Given the description of an element on the screen output the (x, y) to click on. 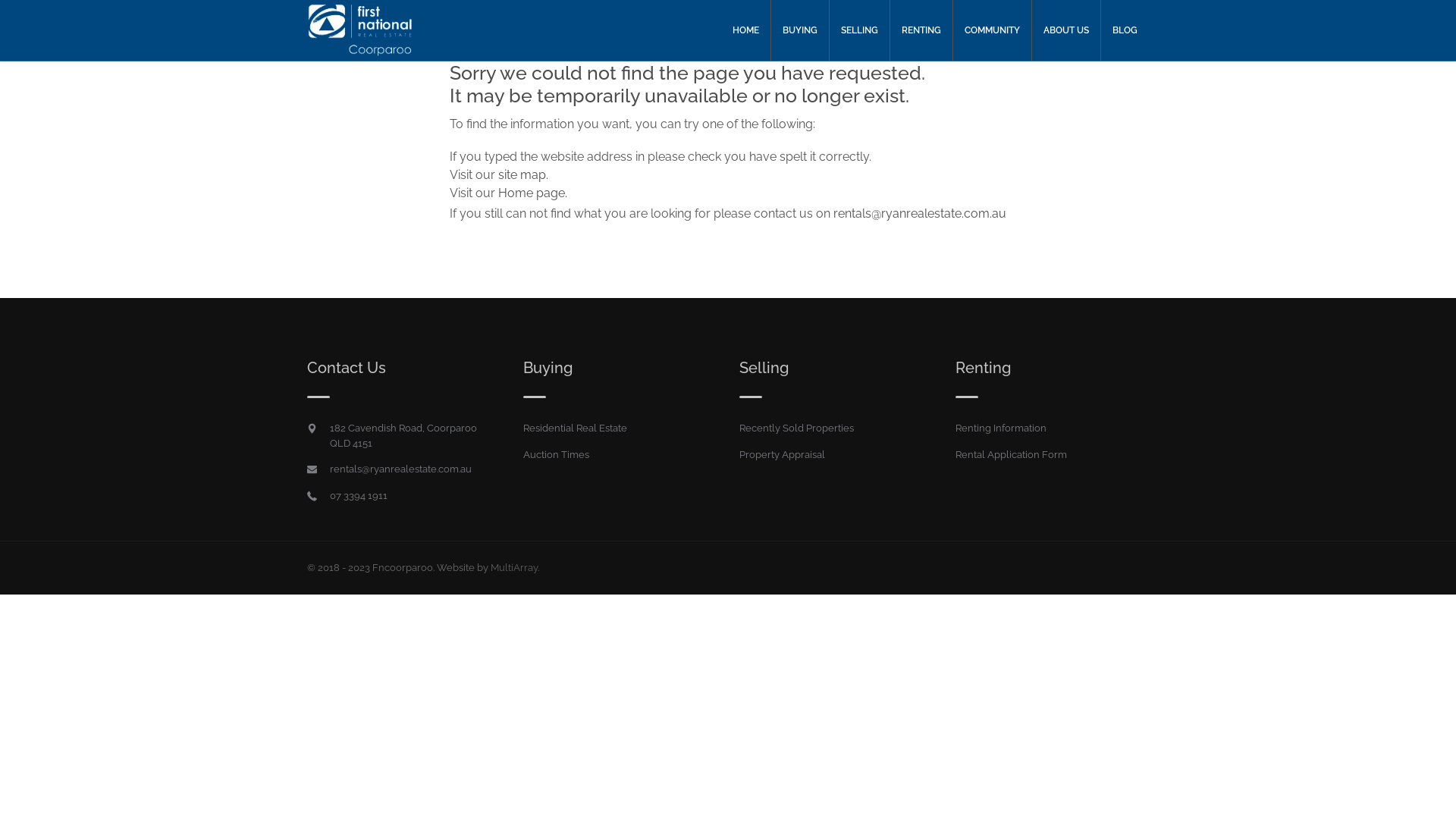
Renting Information Element type: text (1000, 427)
07 3394 1911 Element type: text (358, 495)
COMMUNITY Element type: text (992, 30)
Residential Real Estate Element type: text (575, 427)
rentals@ryanrealestate.com.au Element type: text (919, 213)
Auction Times Element type: text (556, 454)
site map. Element type: text (523, 174)
Recently Sold Properties Element type: text (796, 427)
BLOG Element type: text (1124, 30)
Rental Application Form Element type: text (1010, 454)
HOME Element type: text (745, 30)
SELLING Element type: text (859, 30)
BUYING Element type: text (799, 30)
MultiArray Element type: text (513, 567)
Home page. Element type: text (532, 192)
ABOUT US Element type: text (1066, 30)
Property Appraisal Element type: text (782, 454)
RENTING Element type: text (921, 30)
rentals@ryanrealestate.com.au Element type: text (400, 468)
